Given the description of an element on the screen output the (x, y) to click on. 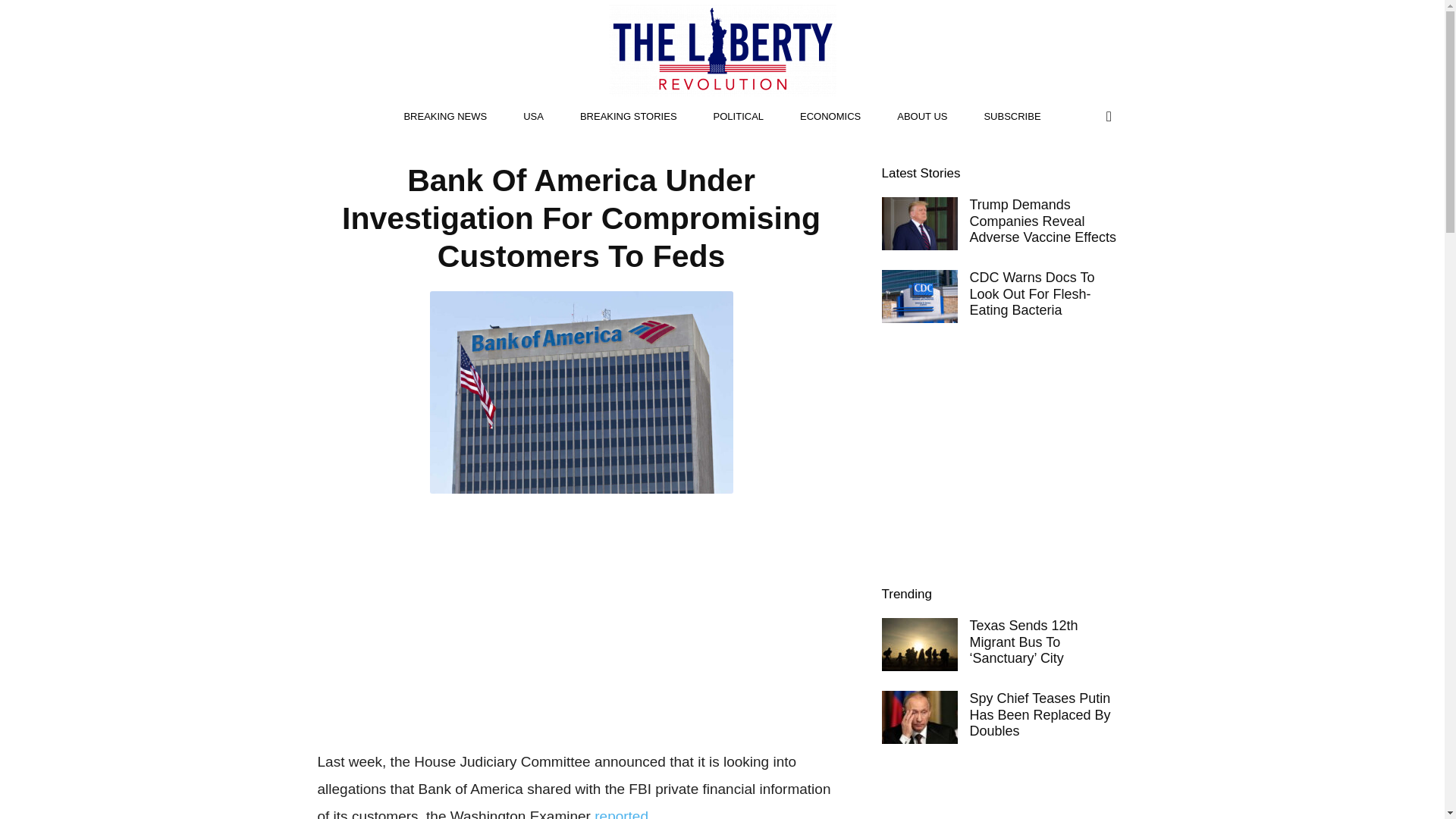
USA (533, 116)
ECONOMICS (830, 116)
Advertisement (580, 618)
BREAKING NEWS (445, 116)
BREAKING STORIES (628, 116)
SUBSCRIBE (1011, 116)
Las,Vegas,-,Circa,July,2016:,Bank,Of,America,Bank (580, 392)
Search (1077, 177)
POLITICAL (738, 116)
ABOUT US (922, 116)
reported (620, 813)
